Given the description of an element on the screen output the (x, y) to click on. 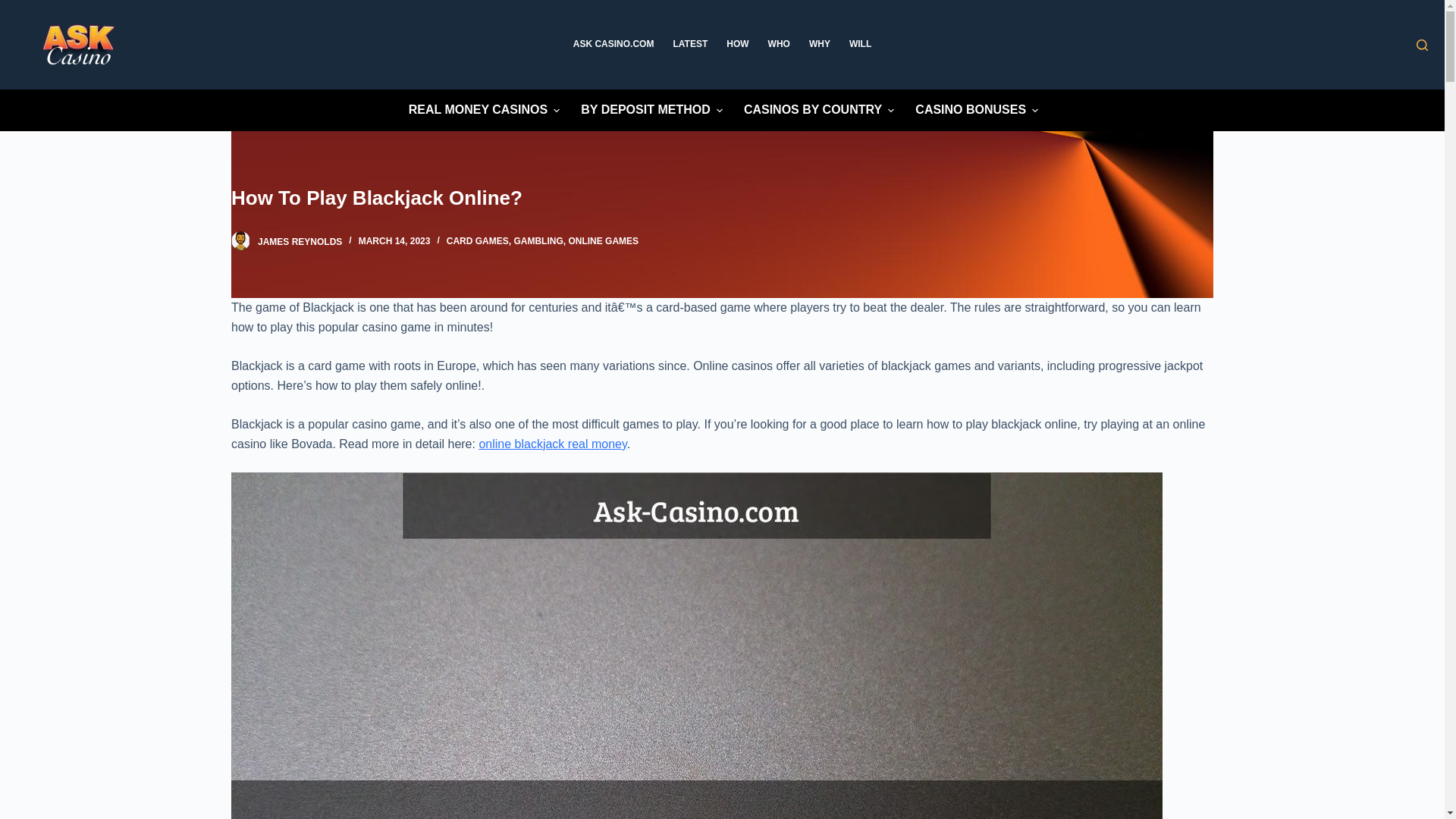
Skip to content (15, 7)
Posts by James Reynolds (299, 240)
How To Play Blackjack Online? (721, 197)
